Given the description of an element on the screen output the (x, y) to click on. 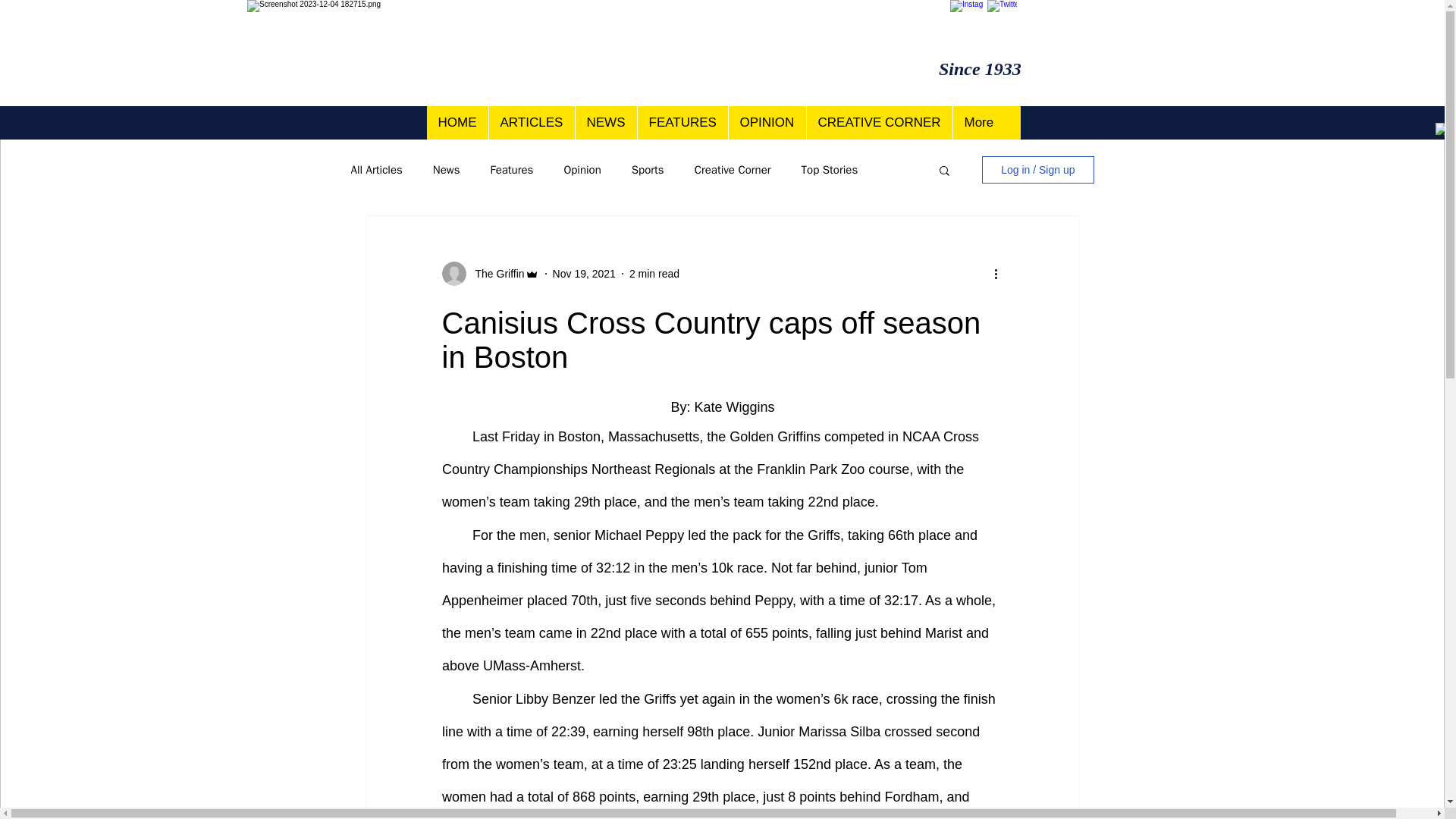
NEWS (606, 122)
Nov 19, 2021 (584, 272)
Opinion (581, 169)
ARTICLES (531, 122)
HOME (456, 122)
News (446, 169)
The Griffin  (494, 273)
2 min read (653, 272)
FEATURES (682, 122)
All Articles (375, 169)
Features (510, 169)
Creative Corner (732, 169)
OPINION (767, 122)
Sports (647, 169)
Top Stories (830, 169)
